Given the description of an element on the screen output the (x, y) to click on. 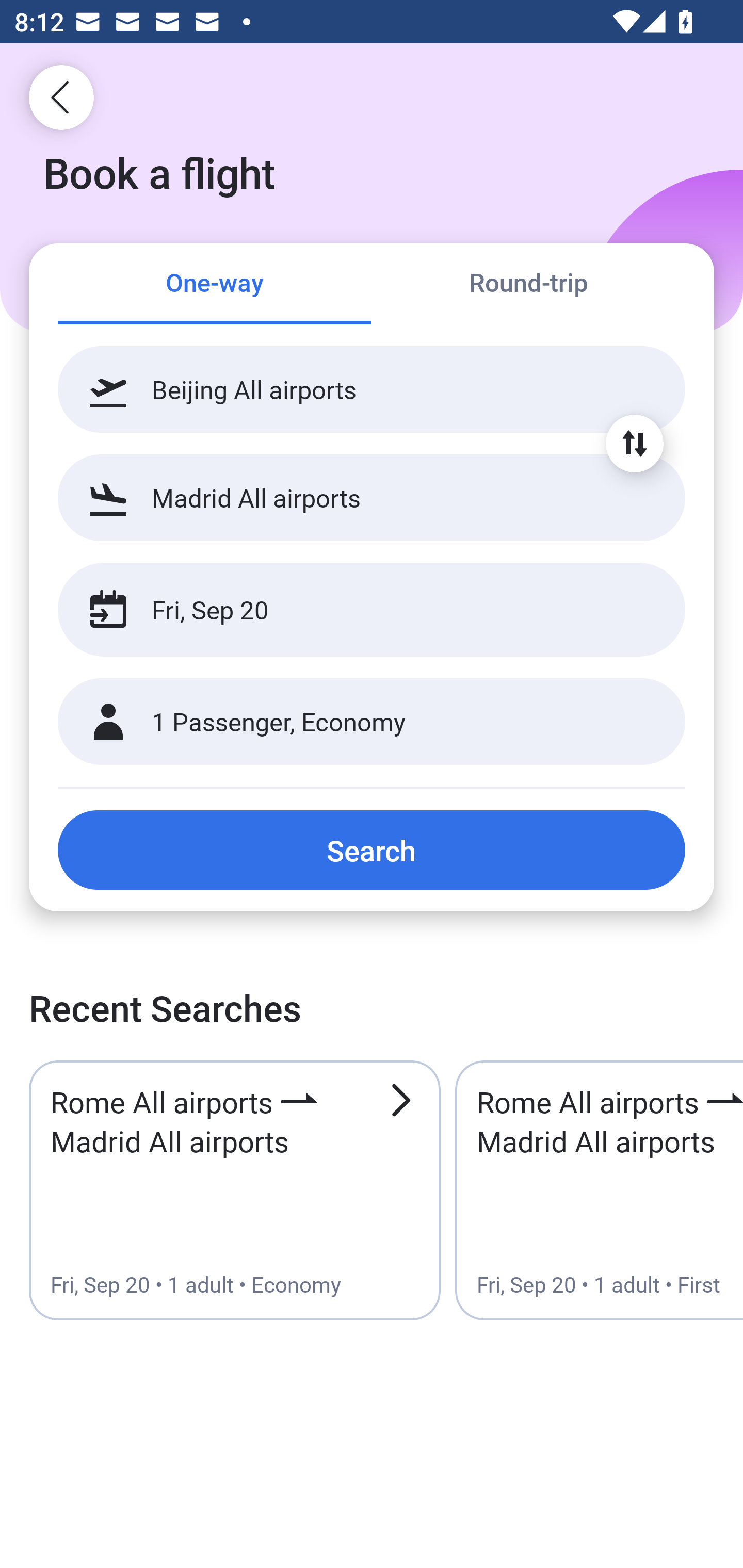
Round-trip (528, 284)
Beijing All airports (371, 389)
Madrid All airports (371, 497)
Fri, Sep 20 (349, 609)
1 Passenger, Economy (371, 721)
Search (371, 849)
